Given the description of an element on the screen output the (x, y) to click on. 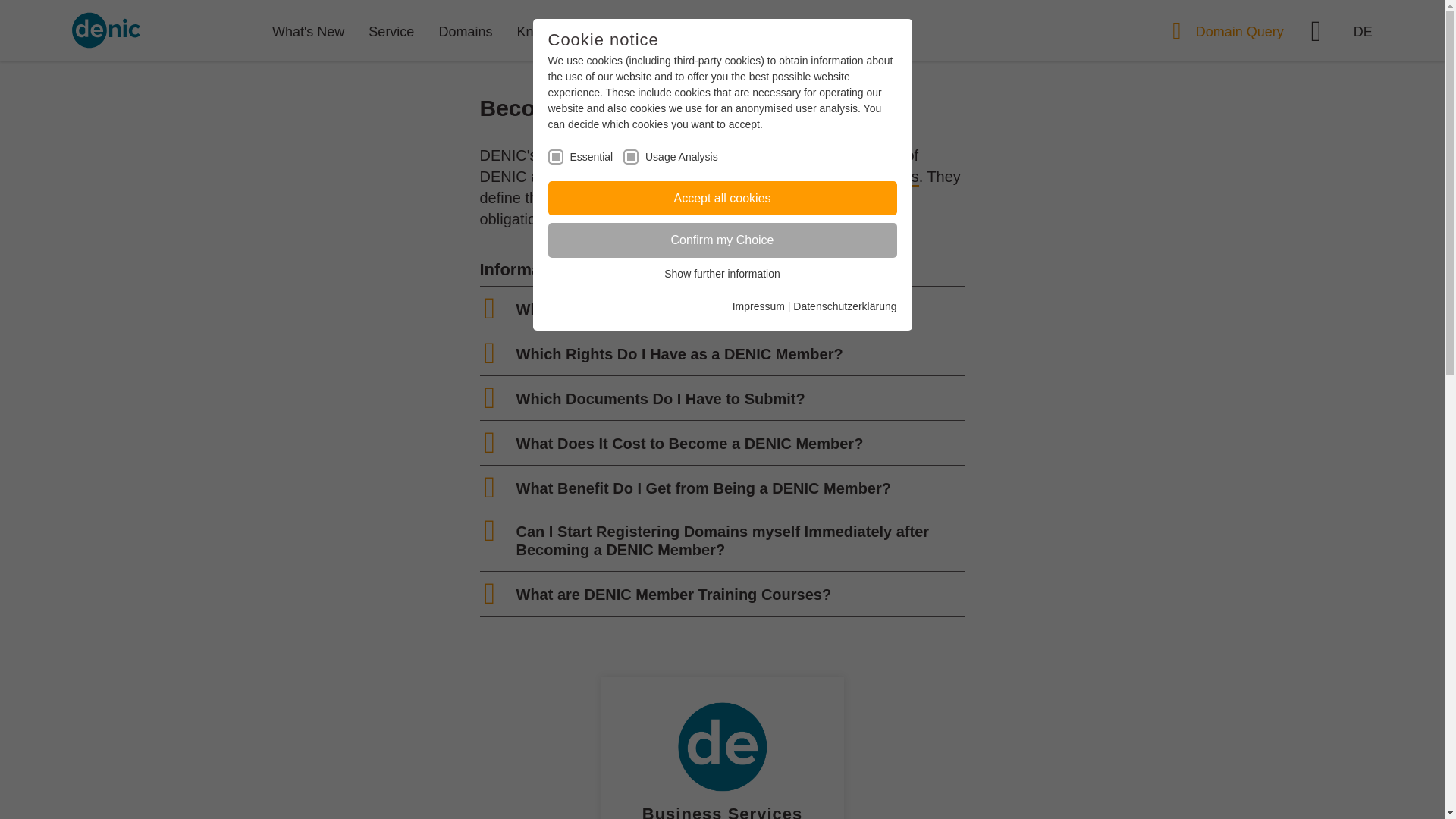
What's New (308, 31)
What are DENIC Member Training Courses? (673, 594)
Domains (464, 31)
Service (391, 31)
What Benefit Do I Get from Being a DENIC Member? (702, 487)
What Does It Cost to Become a DENIC Member? (689, 443)
Who Can Become a DENIC Member? (647, 309)
Domain Query (1230, 31)
Which Documents Do I Have to Submit? (660, 398)
Which Rights Do I Have as a DENIC Member? (679, 353)
